Given the description of an element on the screen output the (x, y) to click on. 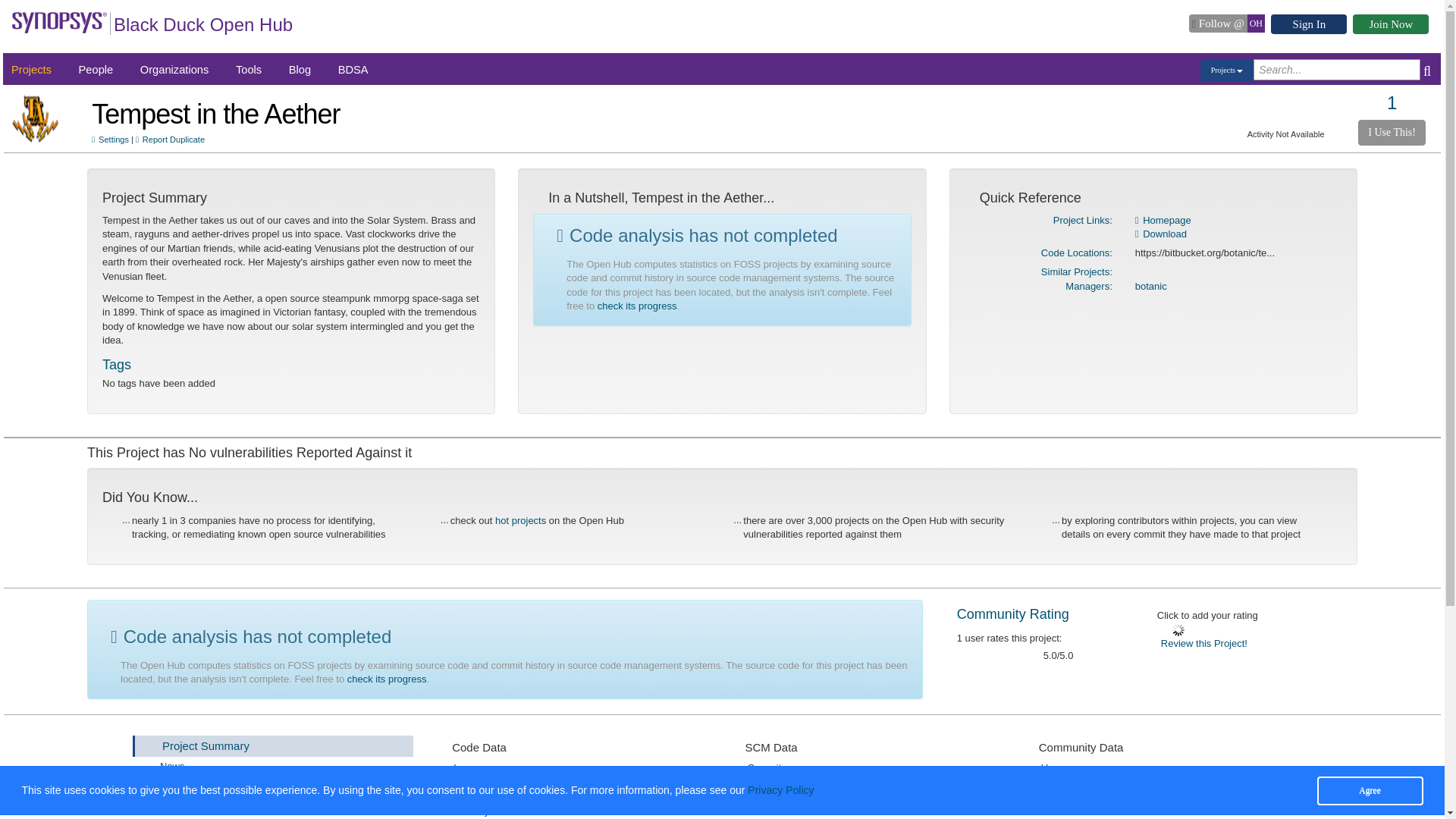
Download (1160, 233)
Sign In (1308, 24)
check its progress (386, 678)
Settings (288, 788)
Organizations (173, 69)
Homepage (1163, 220)
hot projects (520, 520)
 Report Duplicate (170, 139)
BDSA (352, 69)
Tools (248, 69)
